Given the description of an element on the screen output the (x, y) to click on. 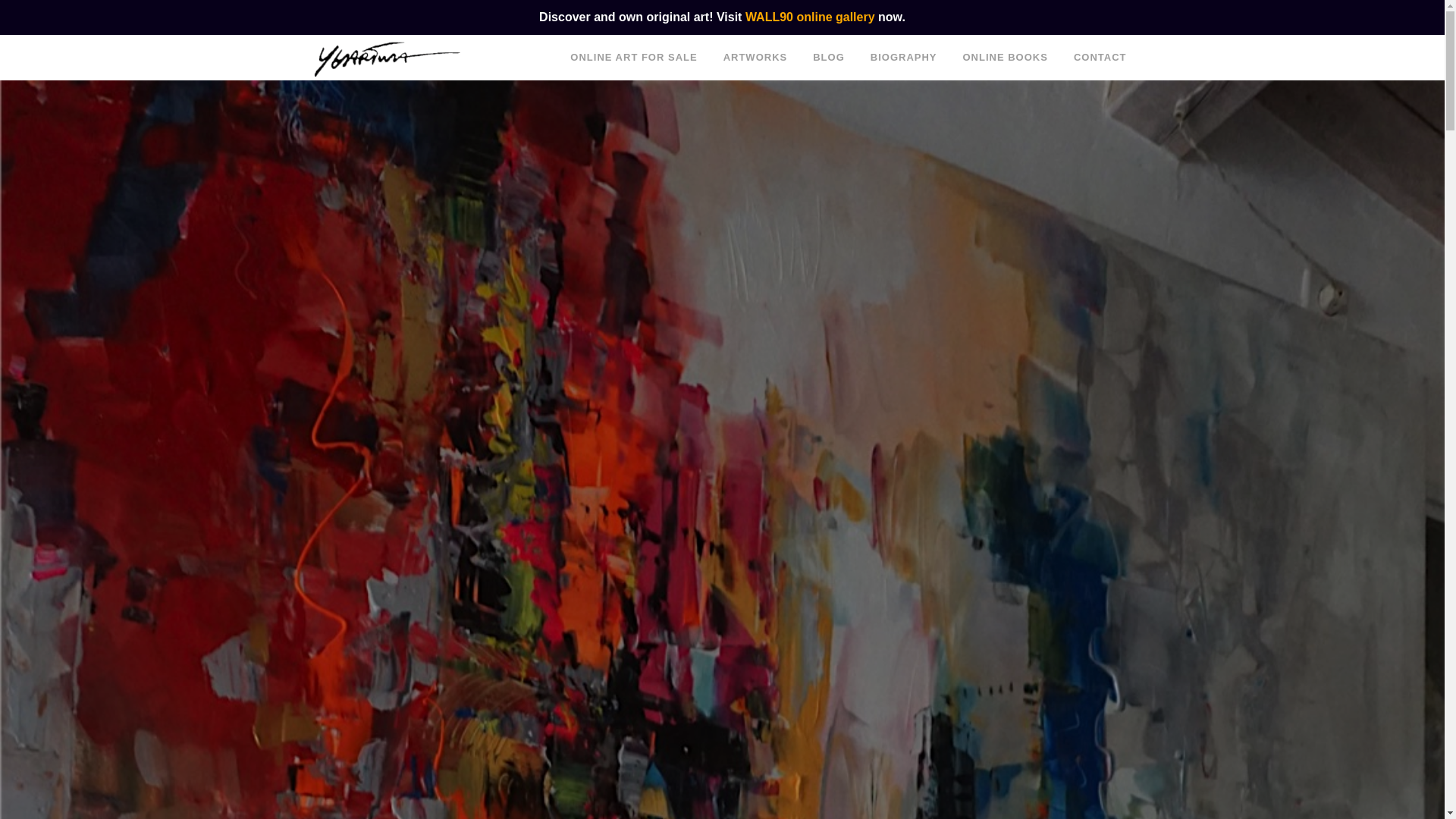
ONLINE ART FOR SALE (633, 57)
CONTACT (1100, 57)
ONLINE BOOKS (1004, 57)
BLOG (828, 57)
BIOGRAPHY (903, 57)
ARTWORKS (755, 57)
WALL90 online gallery (810, 16)
